Given the description of an element on the screen output the (x, y) to click on. 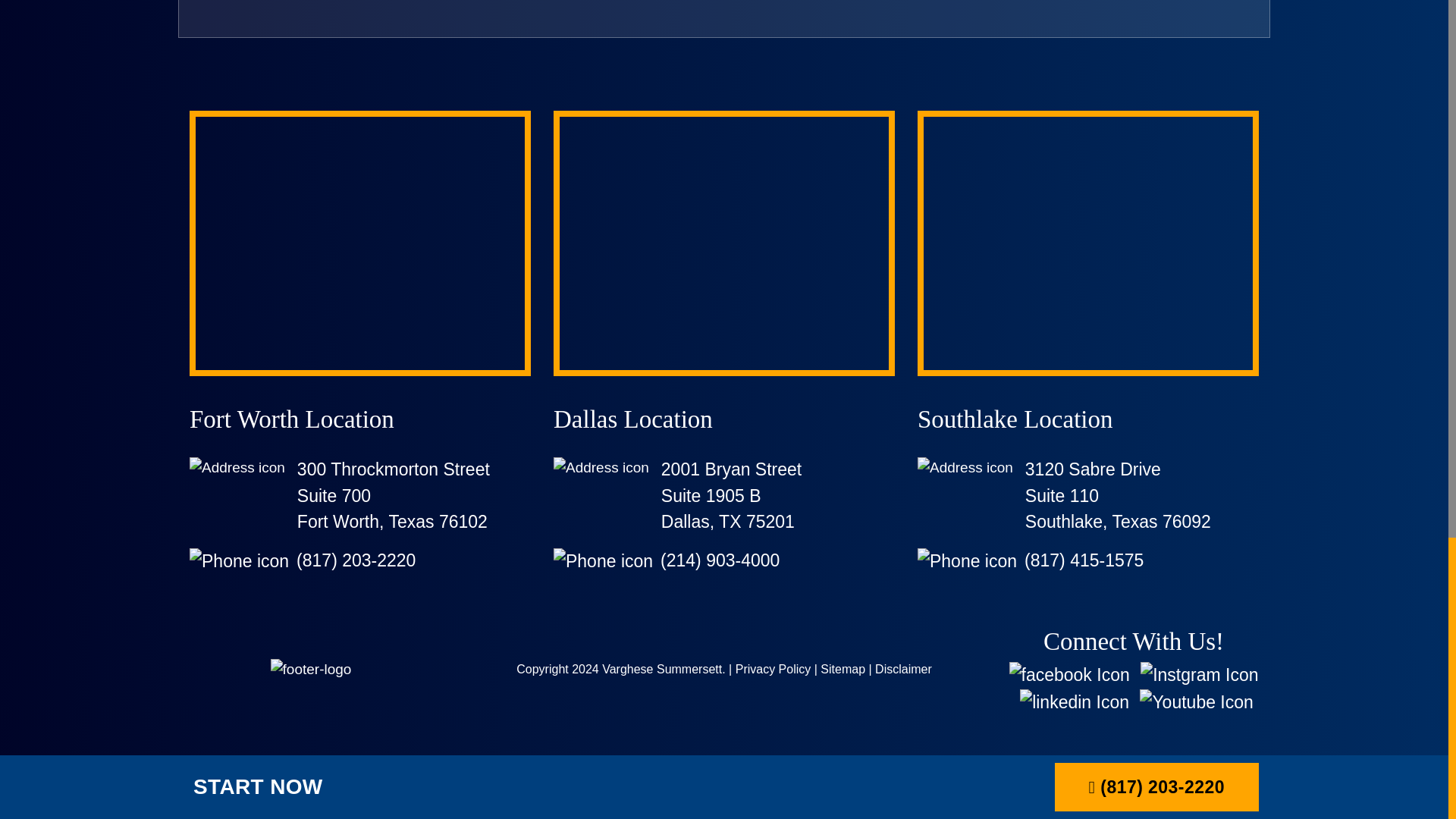
Phone icon (966, 560)
Instgram Icon (1195, 674)
facebook Icon (1069, 674)
linkedin Icon (1071, 702)
Youtube Icon (1193, 702)
Address icon (237, 468)
Address icon (965, 468)
Phone icon (602, 560)
Phone icon (238, 560)
Address icon (601, 468)
